Given the description of an element on the screen output the (x, y) to click on. 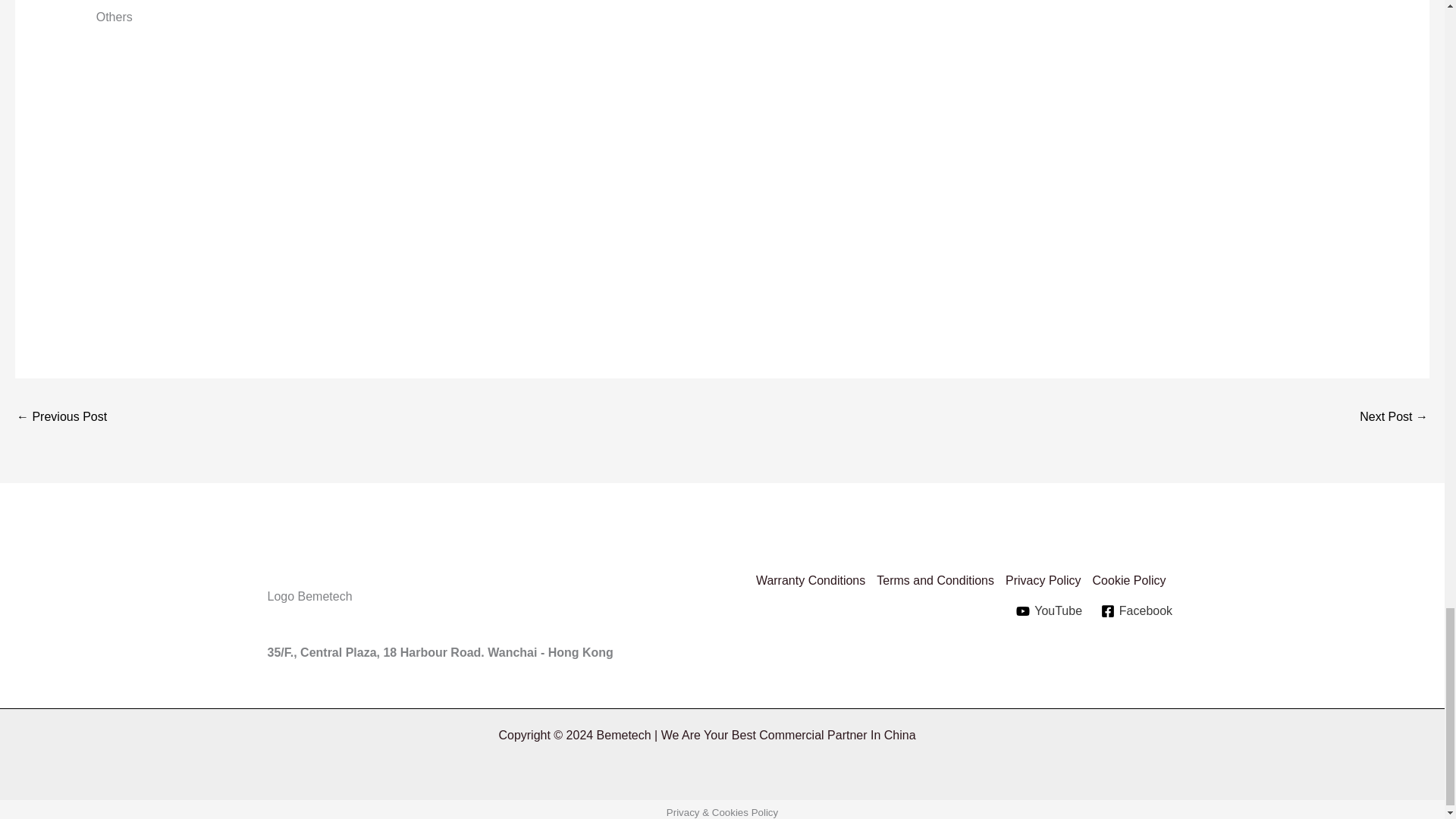
Facebook (1136, 611)
Privacy Policy (1049, 580)
Cookie Policy (1135, 580)
Solar Energy in Daily Life (61, 418)
Terms and Conditions (941, 580)
Warranty Conditions (815, 580)
YouTube (1049, 611)
Steel and Other Industrial Metals (1393, 418)
